Given the description of an element on the screen output the (x, y) to click on. 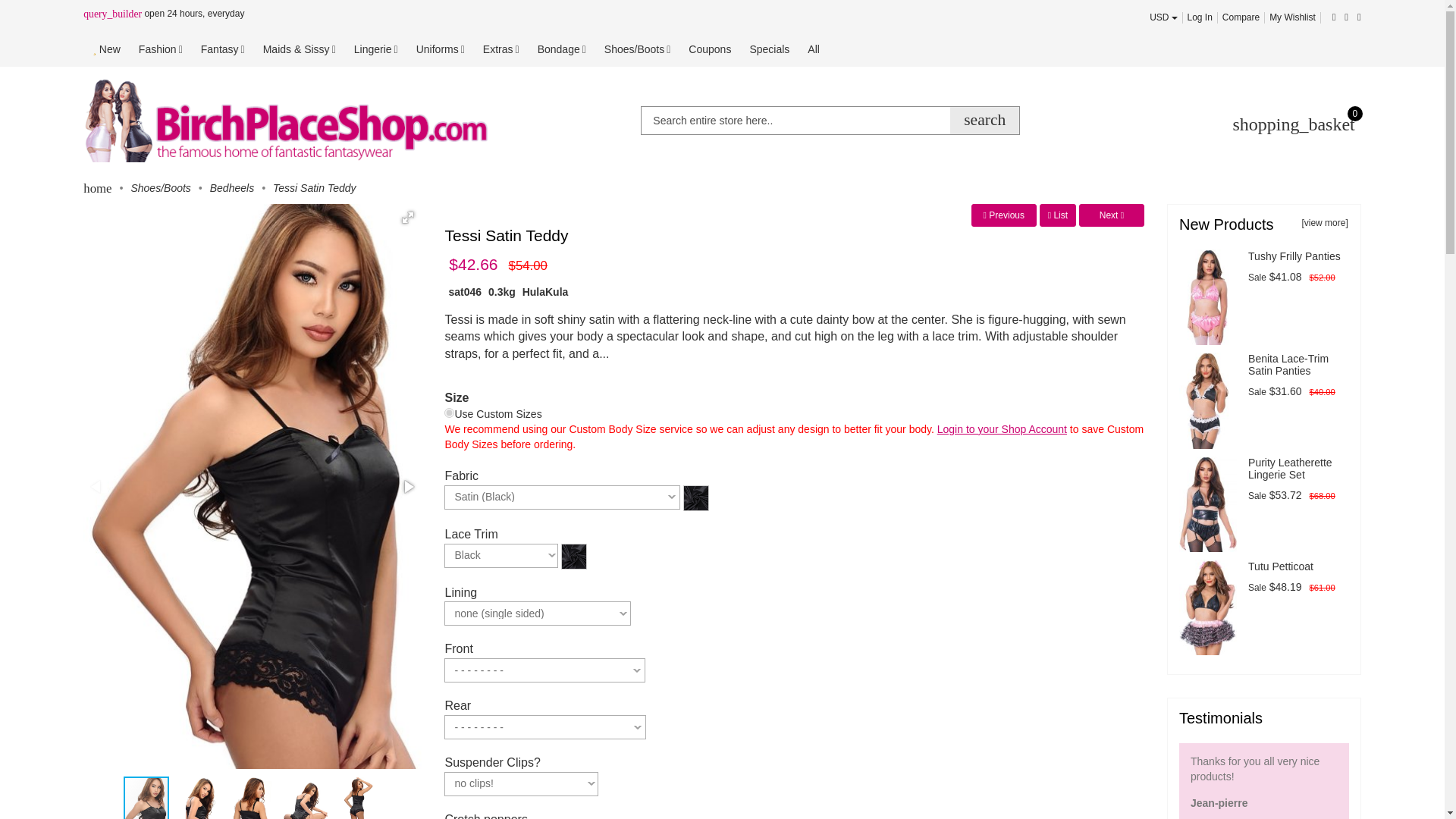
see more of our colours (573, 554)
Log In (1200, 17)
Compare (1241, 17)
121 (449, 412)
see more of our colours (695, 496)
My Wishlist (1292, 17)
Search entire store here.. (830, 120)
